Given the description of an element on the screen output the (x, y) to click on. 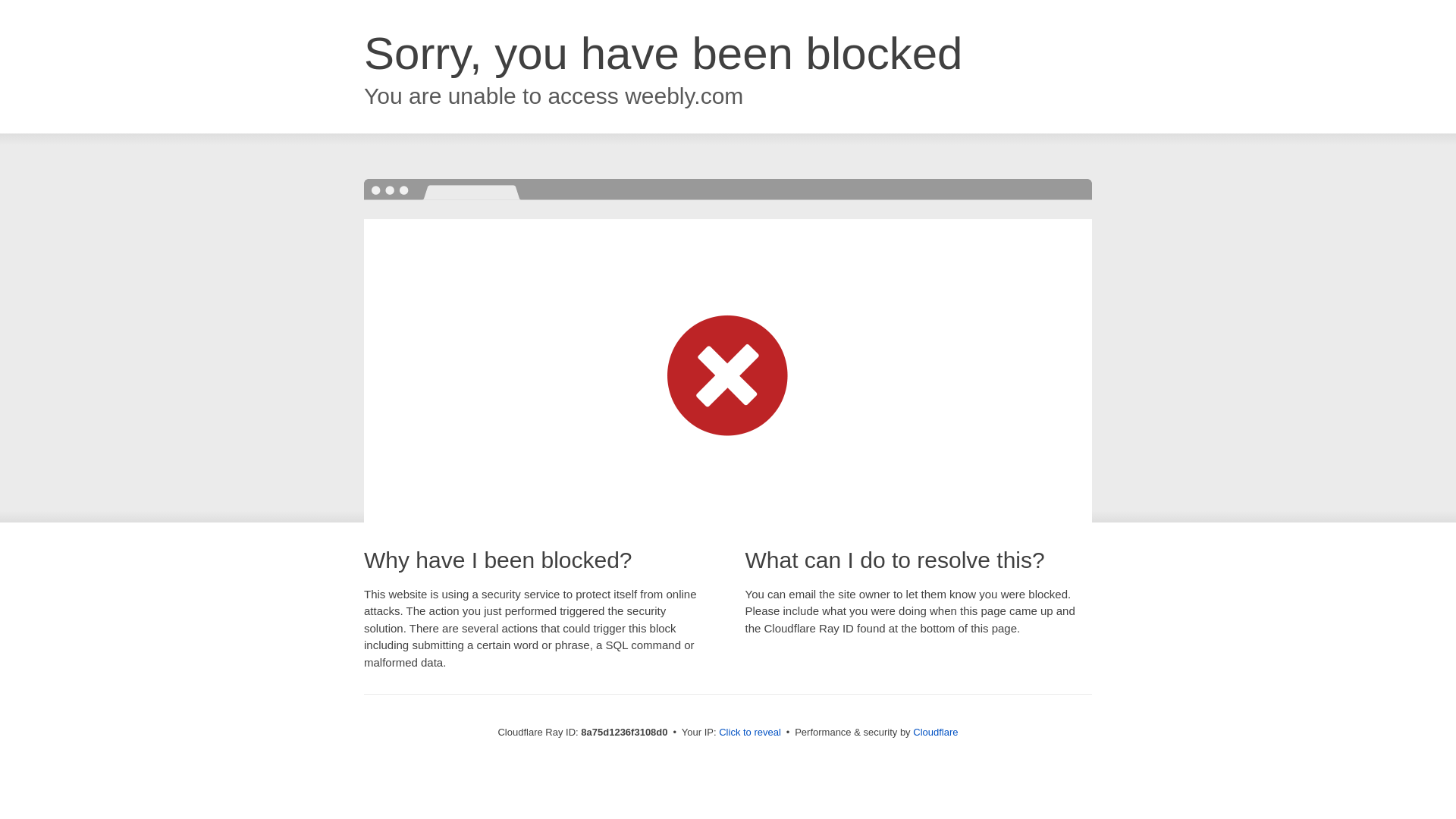
Cloudflare (935, 731)
Click to reveal (749, 732)
